Given the description of an element on the screen output the (x, y) to click on. 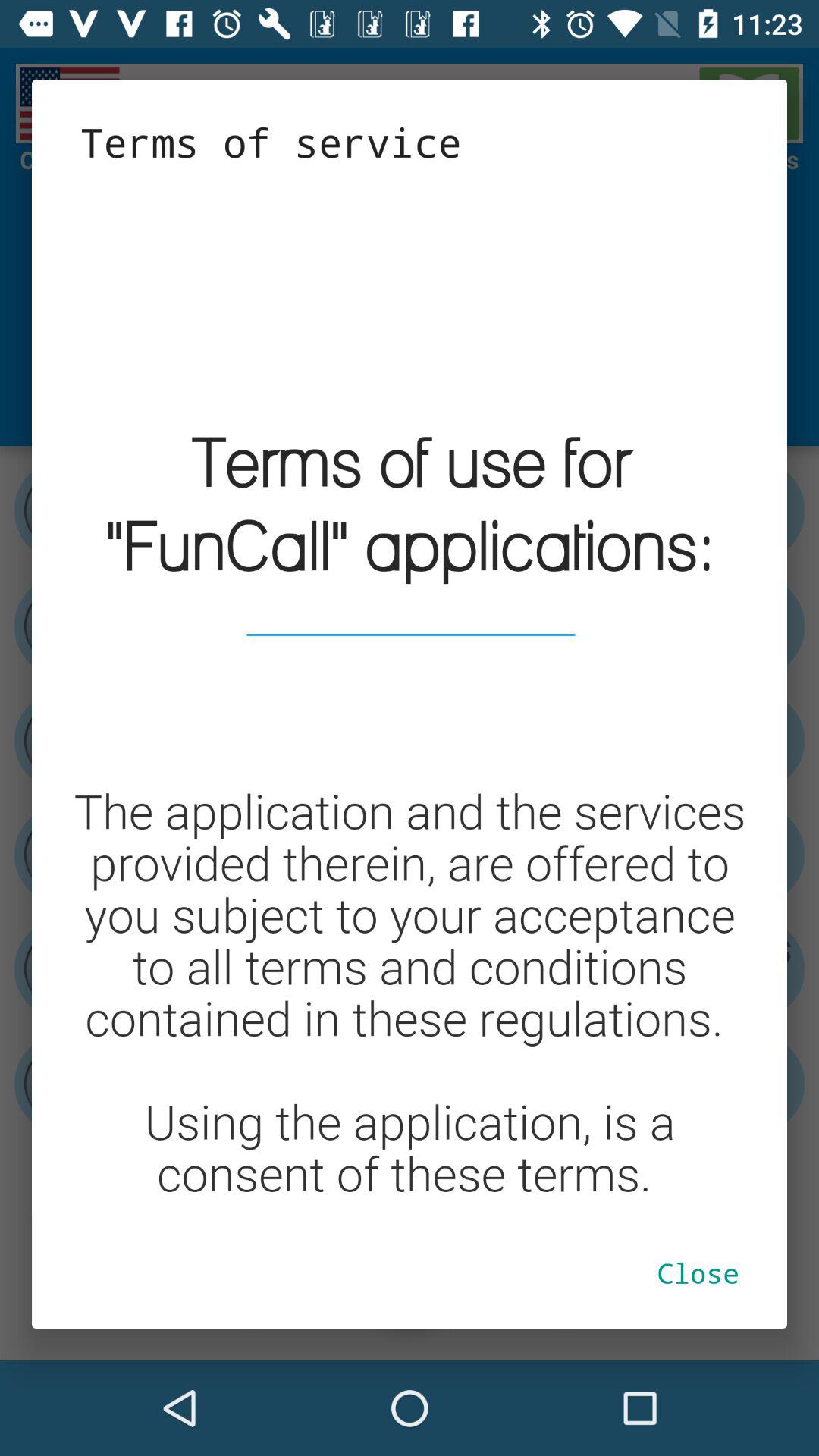
choose item above the close icon (409, 692)
